Given the description of an element on the screen output the (x, y) to click on. 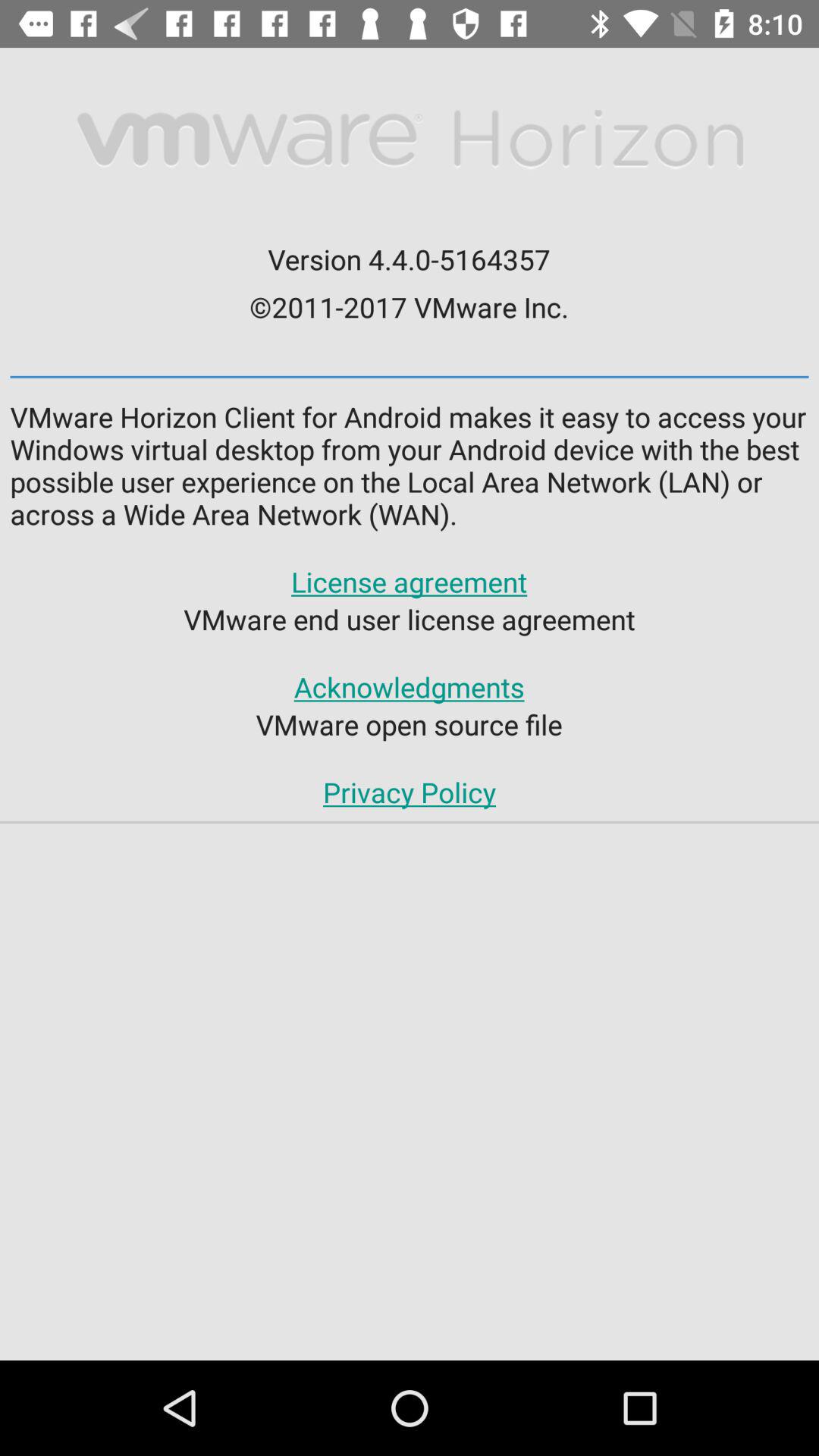
launch the item above version 4 4 item (409, 139)
